Given the description of an element on the screen output the (x, y) to click on. 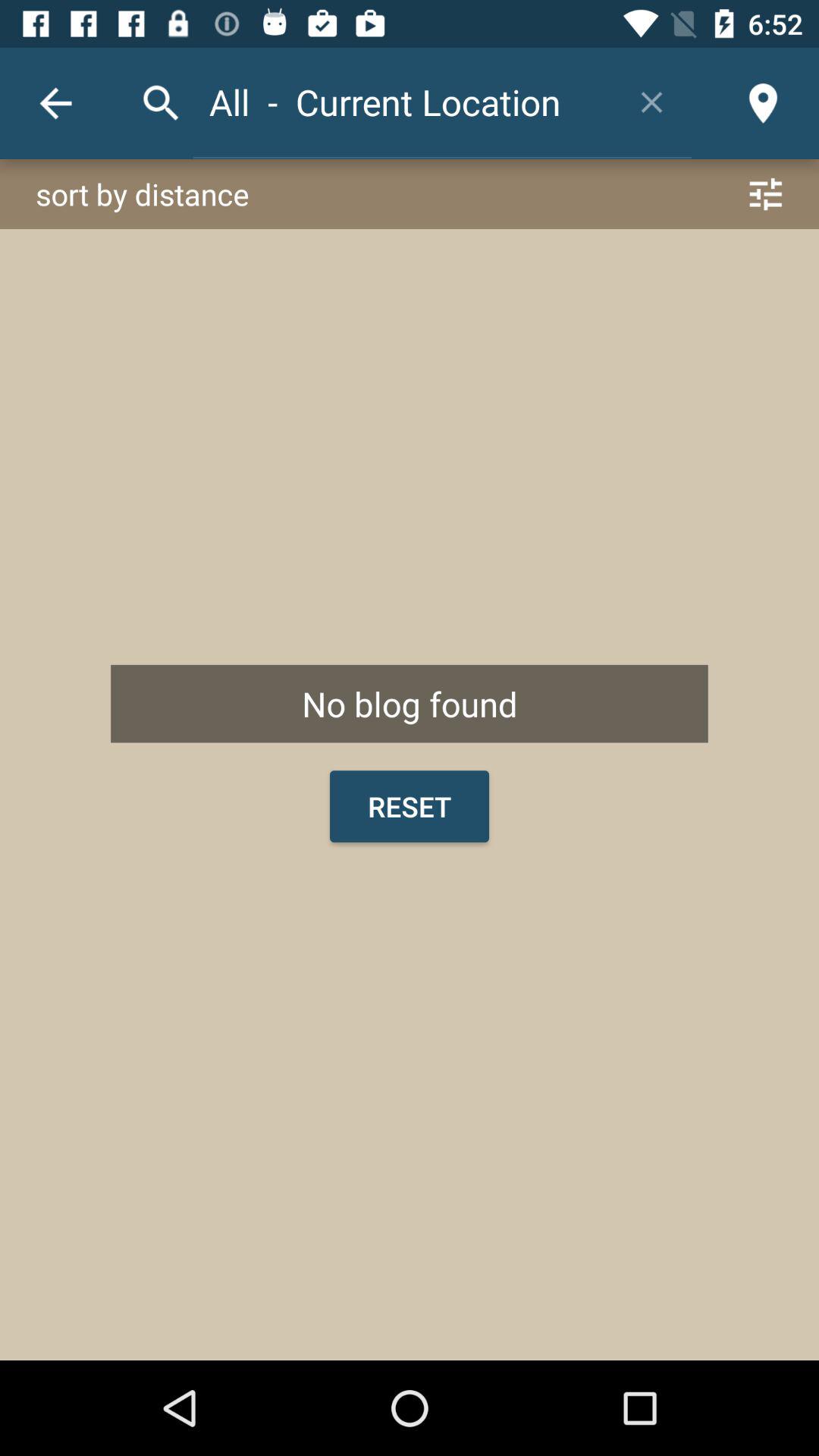
swipe until the all  -  current location (402, 102)
